Given the description of an element on the screen output the (x, y) to click on. 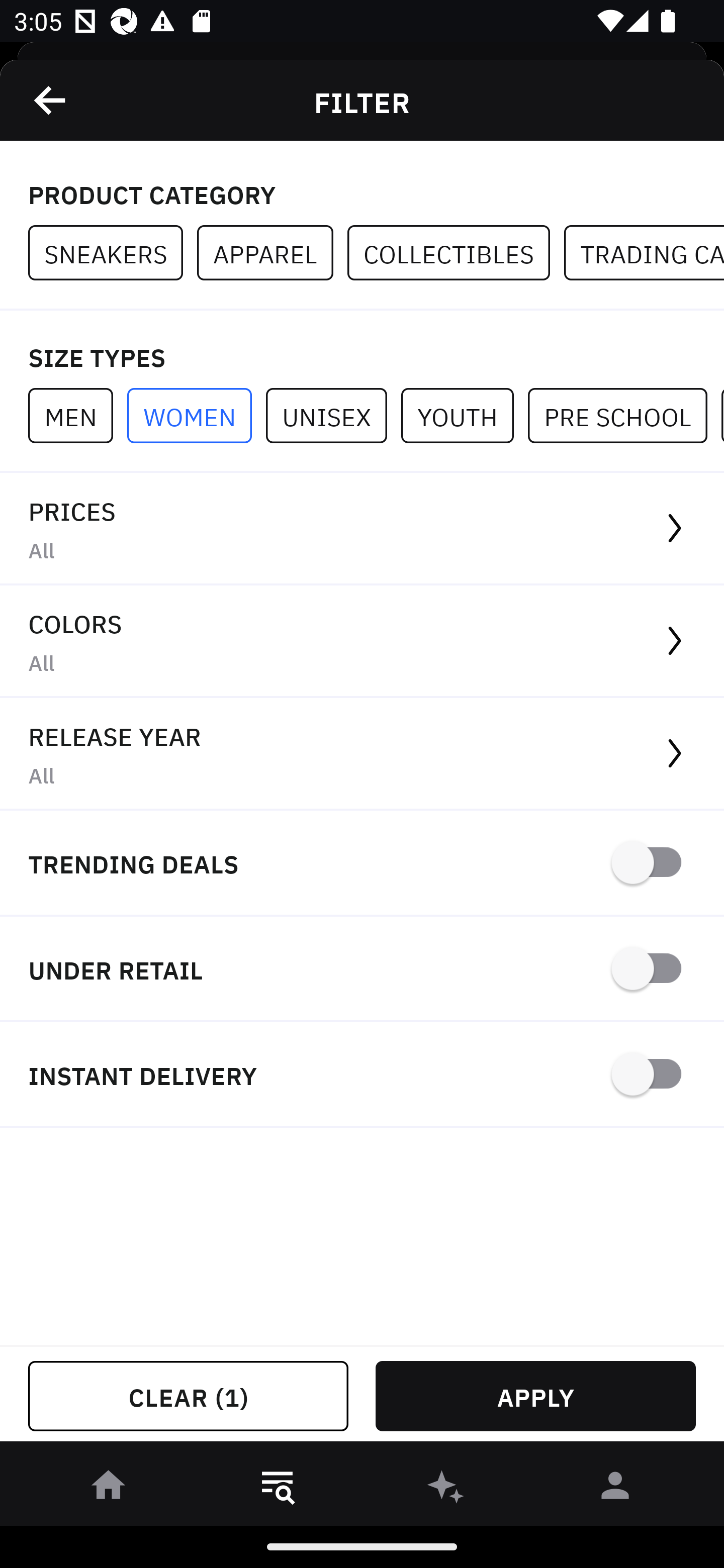
 (50, 100)
SNEAKERS (112, 252)
APPAREL (271, 252)
COLLECTIBLES (455, 252)
TRADING CARDS (643, 252)
MEN (77, 415)
WOMEN (196, 415)
UNISEX (333, 415)
YOUTH (464, 415)
PRE SCHOOL (624, 415)
PRICES All (362, 528)
COLORS All (362, 640)
RELEASE YEAR All (362, 753)
TRENDING DEALS (362, 863)
UNDER RETAIL (362, 969)
INSTANT DELIVERY (362, 1075)
CLEAR (1) (188, 1396)
APPLY (535, 1396)
󰋜 (108, 1488)
󱎸 (277, 1488)
󰫢 (446, 1488)
󰀄 (615, 1488)
